Given the description of an element on the screen output the (x, y) to click on. 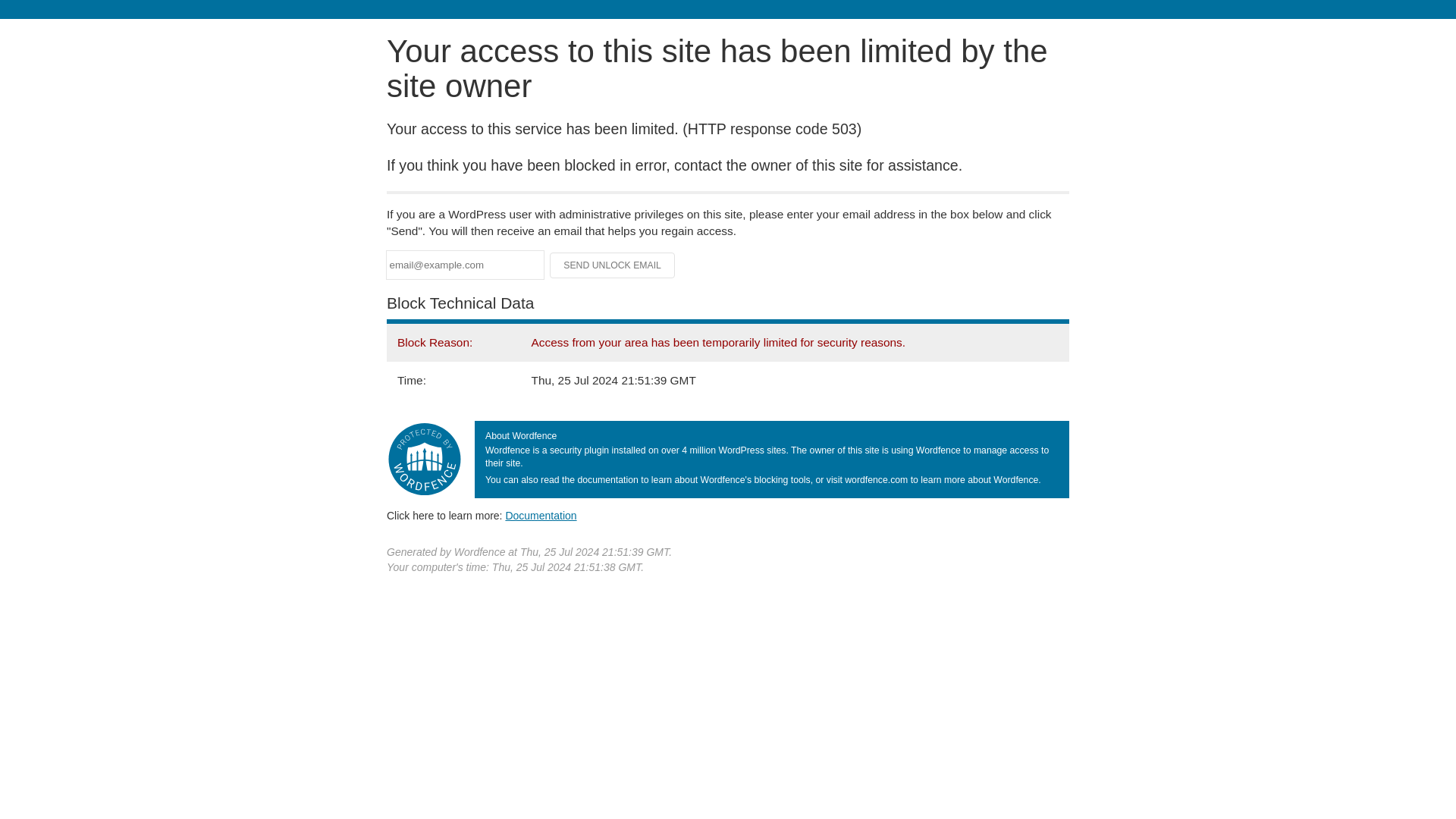
Documentation (540, 515)
Send Unlock Email (612, 265)
Send Unlock Email (612, 265)
